Given the description of an element on the screen output the (x, y) to click on. 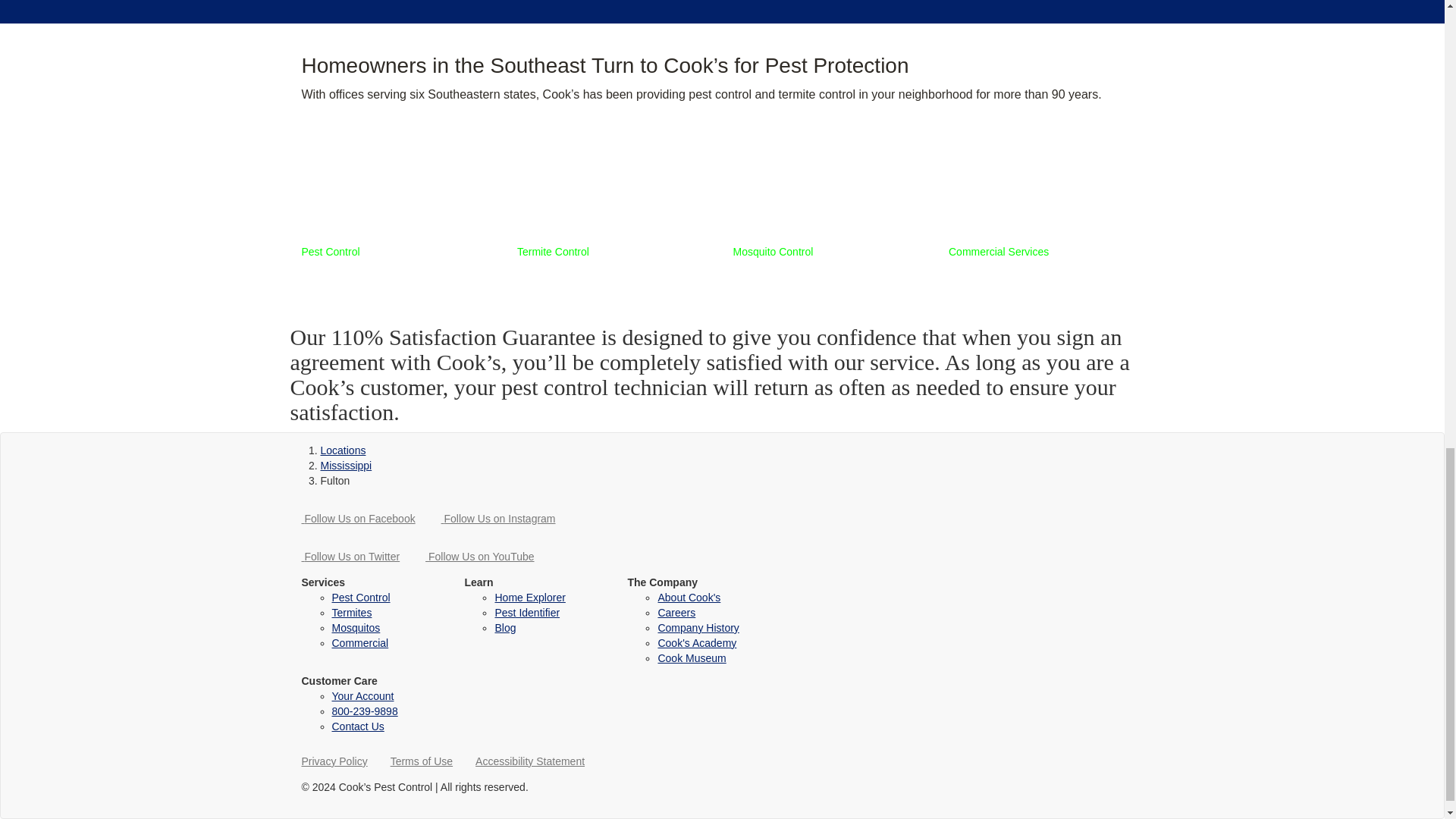
Termite Control (613, 196)
Pest Control (398, 196)
Mosquito Control (829, 196)
